Given the description of an element on the screen output the (x, y) to click on. 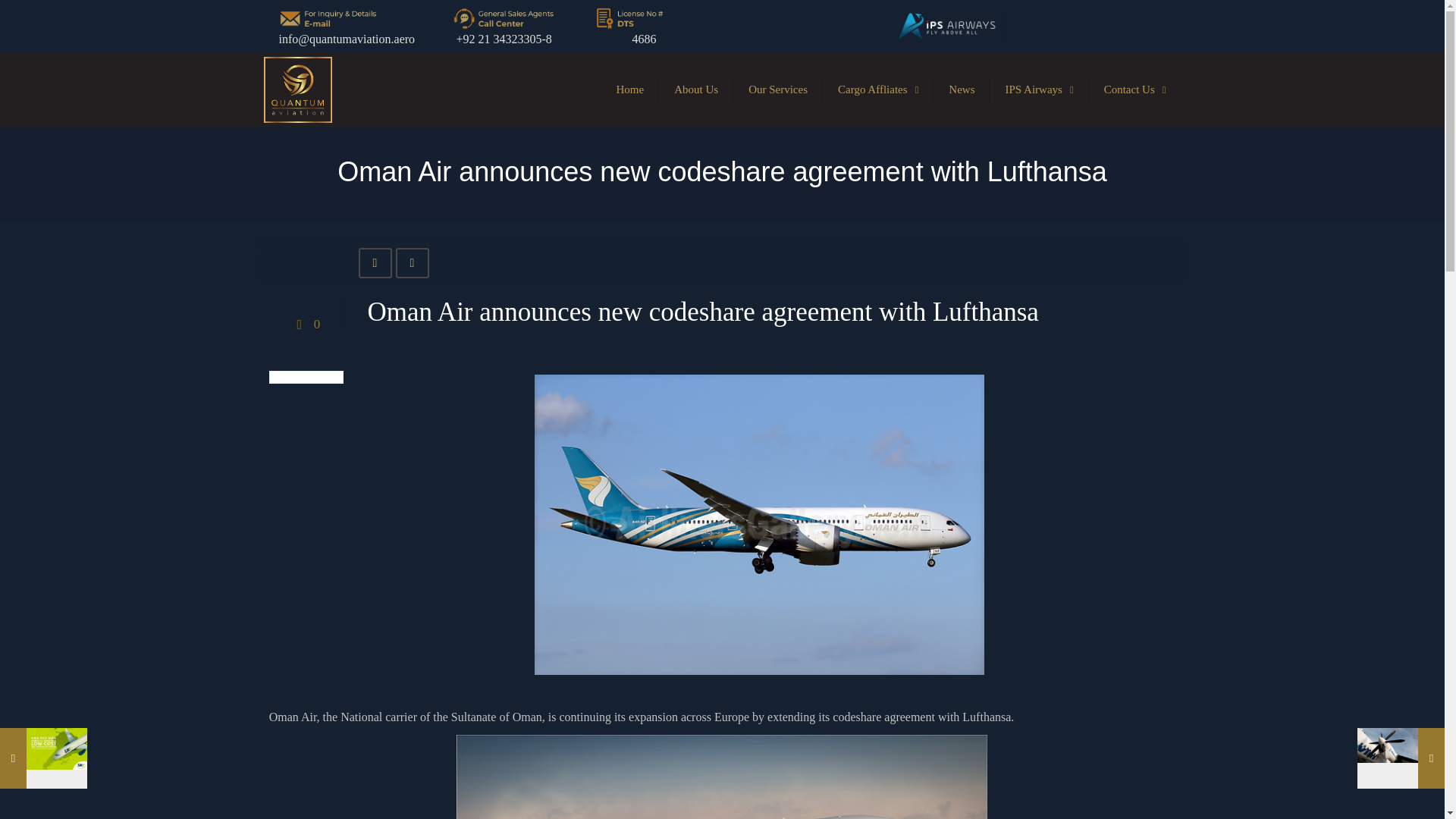
About Us (696, 89)
Cargo Affliates (877, 89)
Contact Us (1134, 89)
0 (306, 323)
IPS Airways (1038, 89)
News (961, 89)
Our Services (777, 89)
Home (630, 89)
